Given the description of an element on the screen output the (x, y) to click on. 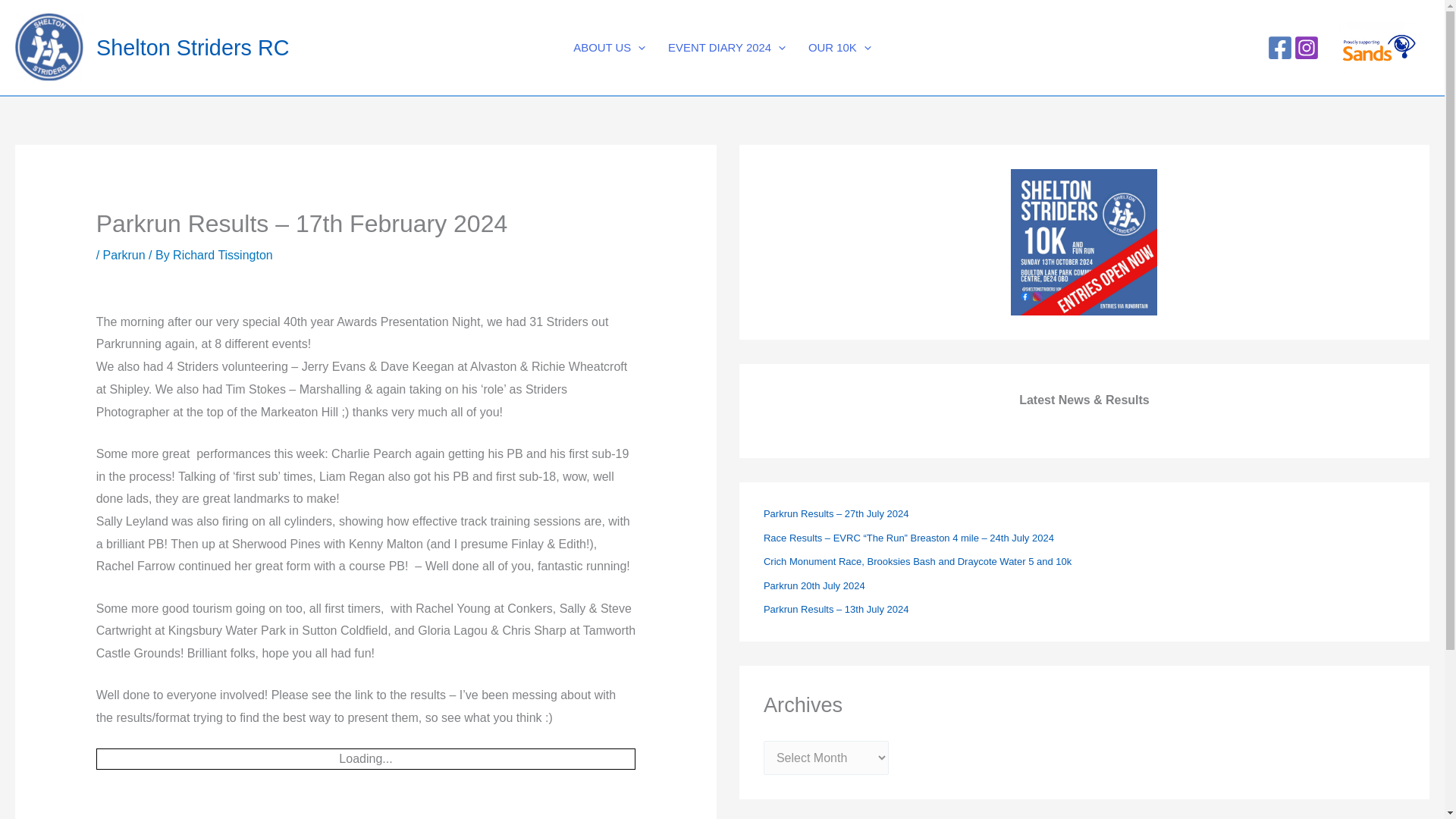
View all posts by Richard Tissington (223, 254)
Shelton Striders RC (192, 47)
ABOUT US (609, 47)
OUR 10K (839, 47)
EVENT DIARY 2024 (726, 47)
